Given the description of an element on the screen output the (x, y) to click on. 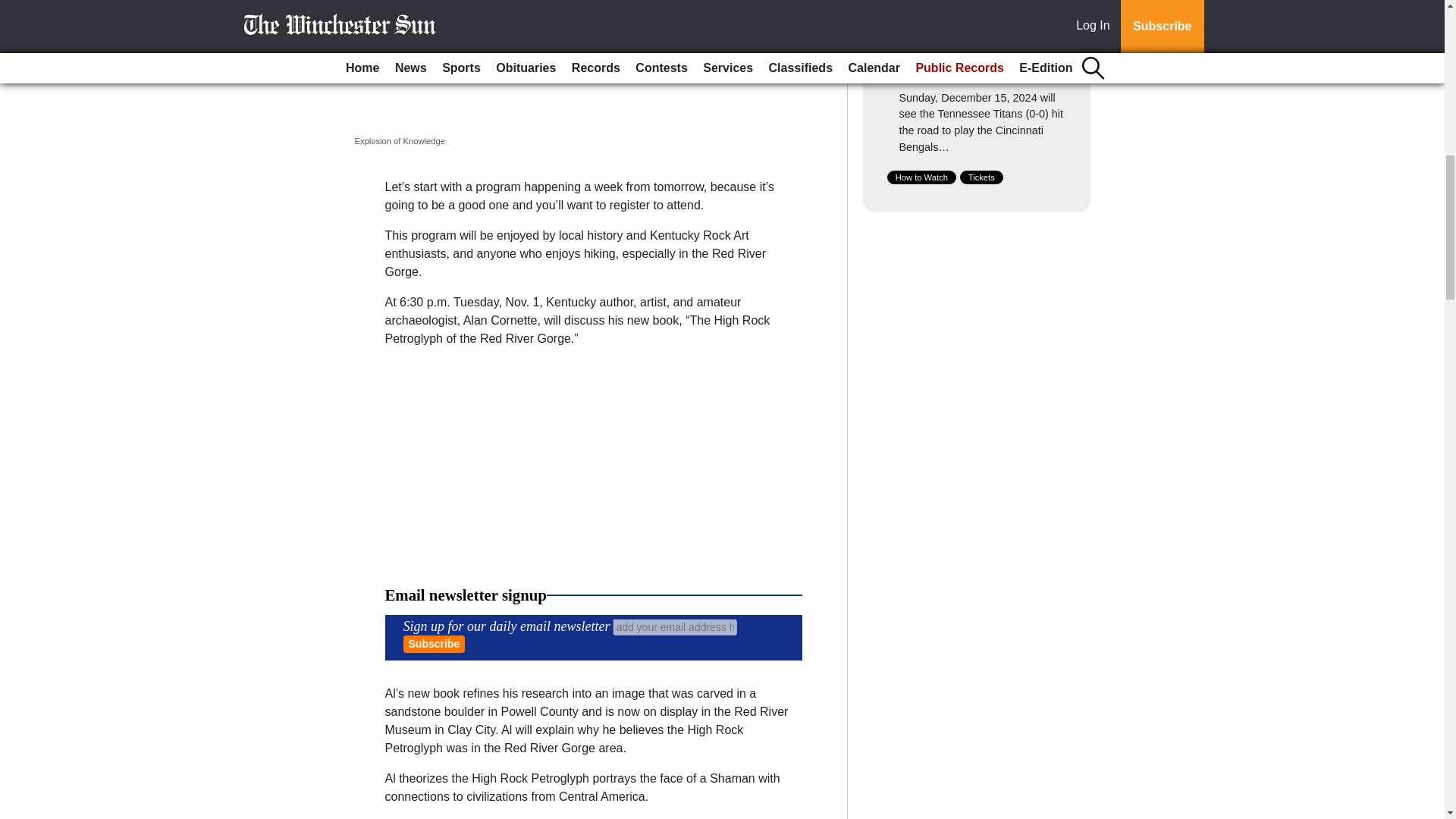
Subscribe (434, 643)
Subscribe (434, 643)
